Given the description of an element on the screen output the (x, y) to click on. 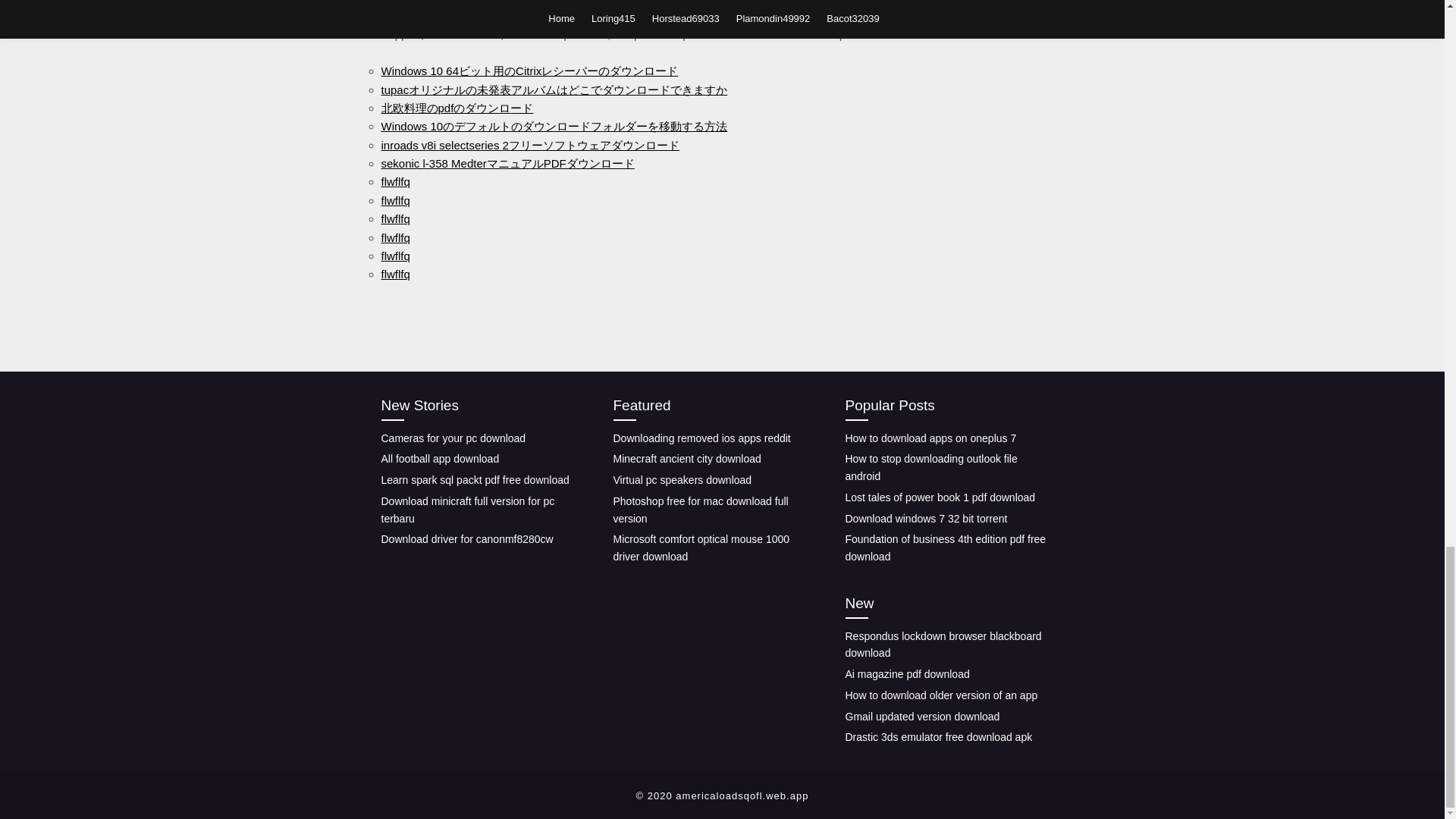
Download minicraft full version for pc terbaru (467, 509)
flwflfq (394, 181)
flwflfq (394, 273)
flwflfq (394, 237)
Minecraft ancient city download (686, 458)
flwflfq (394, 255)
Photoshop free for mac download full version (699, 509)
How to download older version of an app (940, 695)
flwflfq (394, 200)
Download driver for canonmf8280cw (466, 539)
Downloading removed ios apps reddit (701, 437)
All football app download (439, 458)
Cameras for your pc download (452, 437)
Virtual pc speakers download (681, 480)
How to stop downloading outlook file android (930, 467)
